Given the description of an element on the screen output the (x, y) to click on. 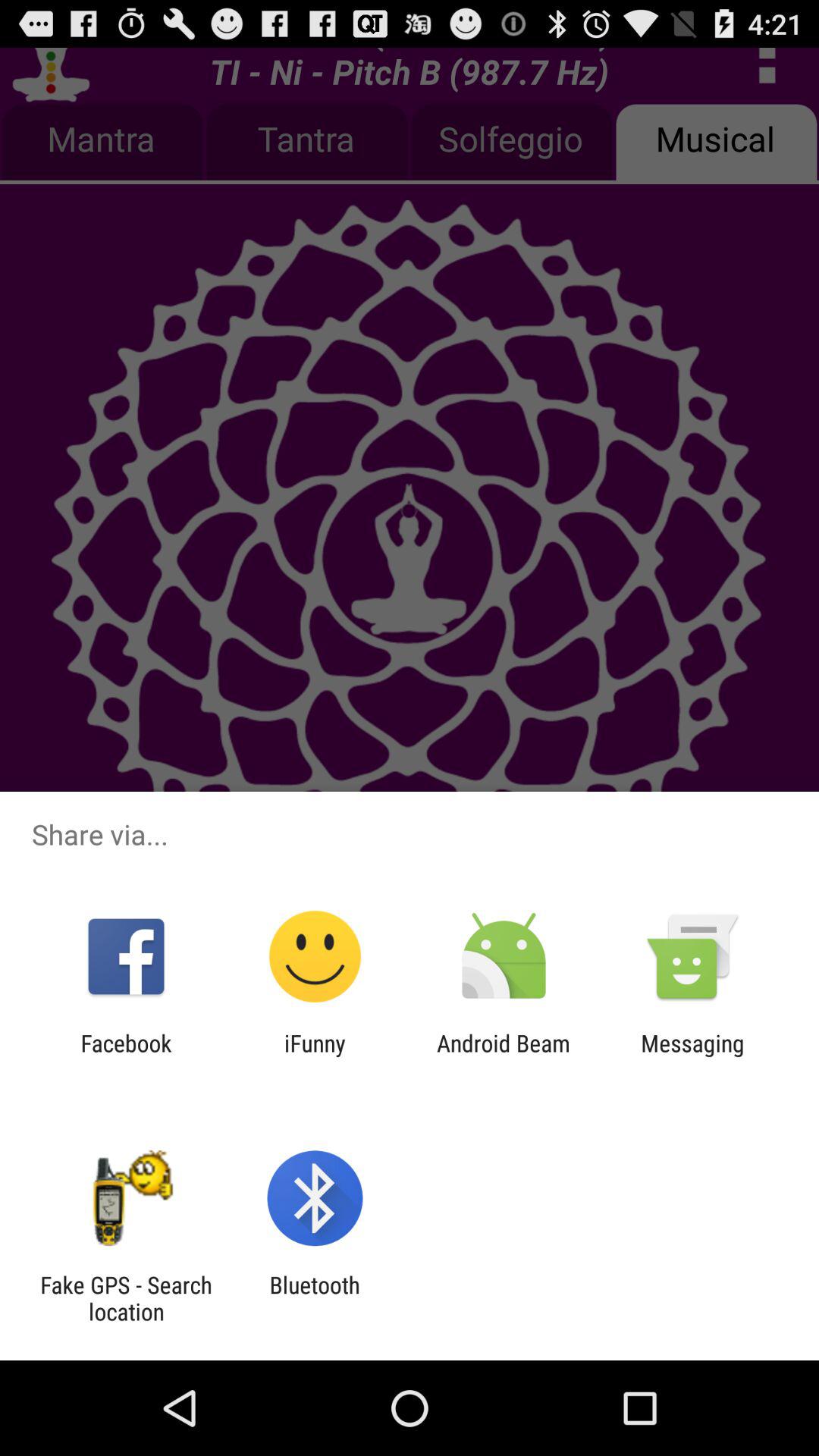
select the item next to messaging icon (503, 1056)
